Given the description of an element on the screen output the (x, y) to click on. 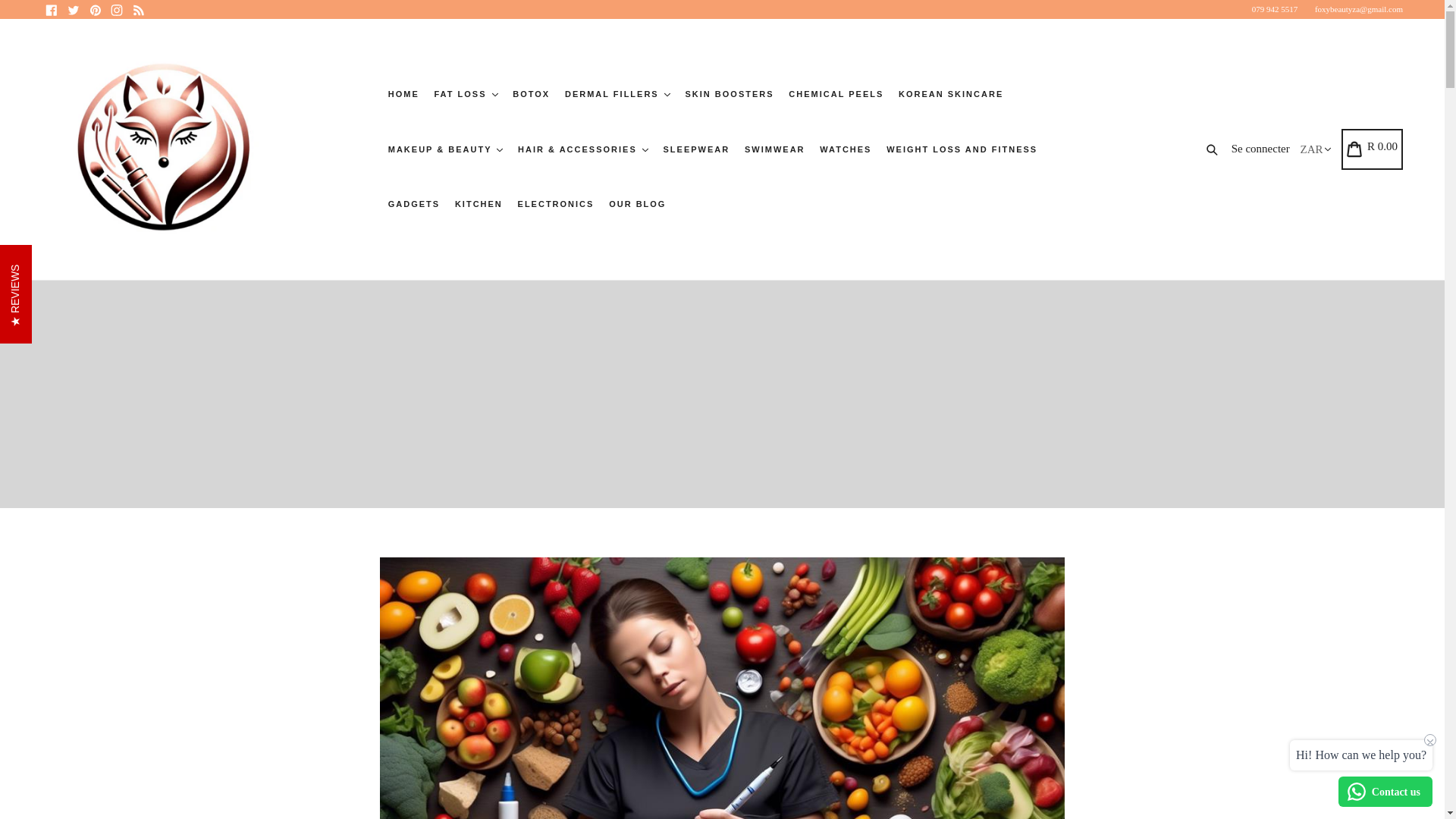
Foxy Beauty sur Facebook (51, 9)
Foxy Beauty sur Instagram (116, 9)
Foxy Beauty sur Pinterest (94, 9)
Foxy Beauty sur Twitter (73, 9)
